Given the description of an element on the screen output the (x, y) to click on. 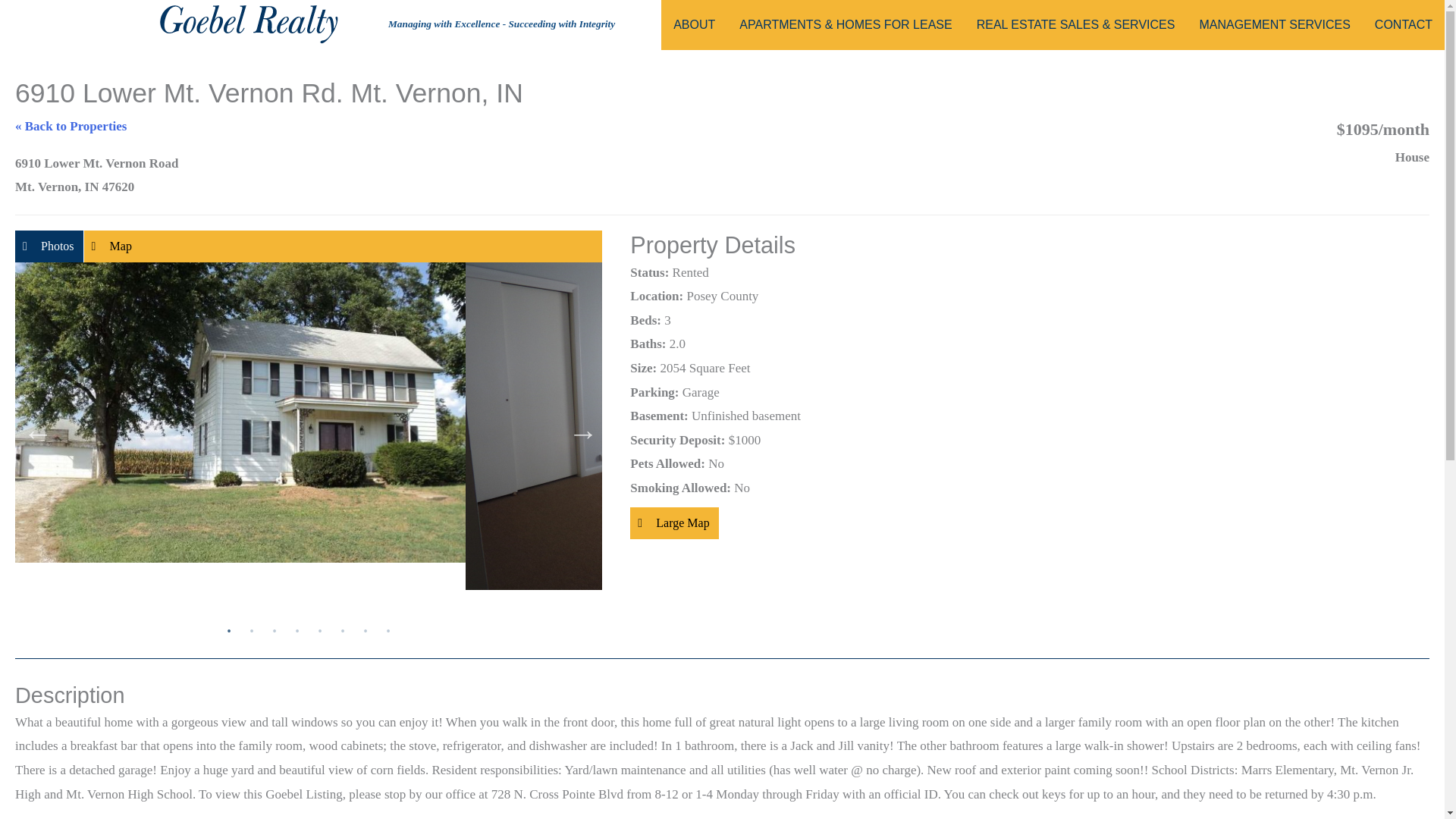
Photos (48, 246)
MANAGEMENT SERVICES (1273, 24)
Previous (34, 429)
ABOUT (693, 24)
Map (111, 246)
